Given the description of an element on the screen output the (x, y) to click on. 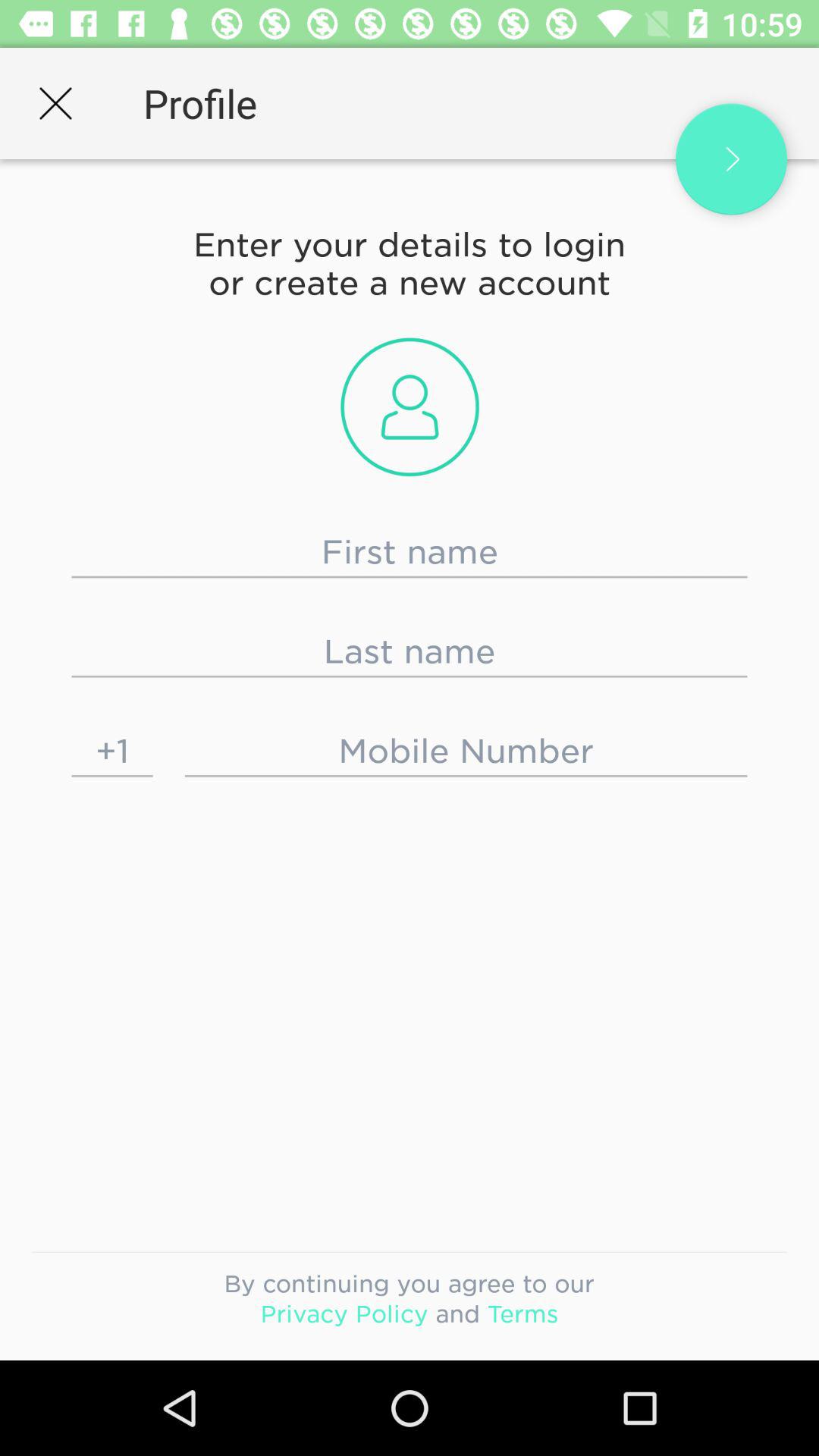
login button (731, 158)
